Given the description of an element on the screen output the (x, y) to click on. 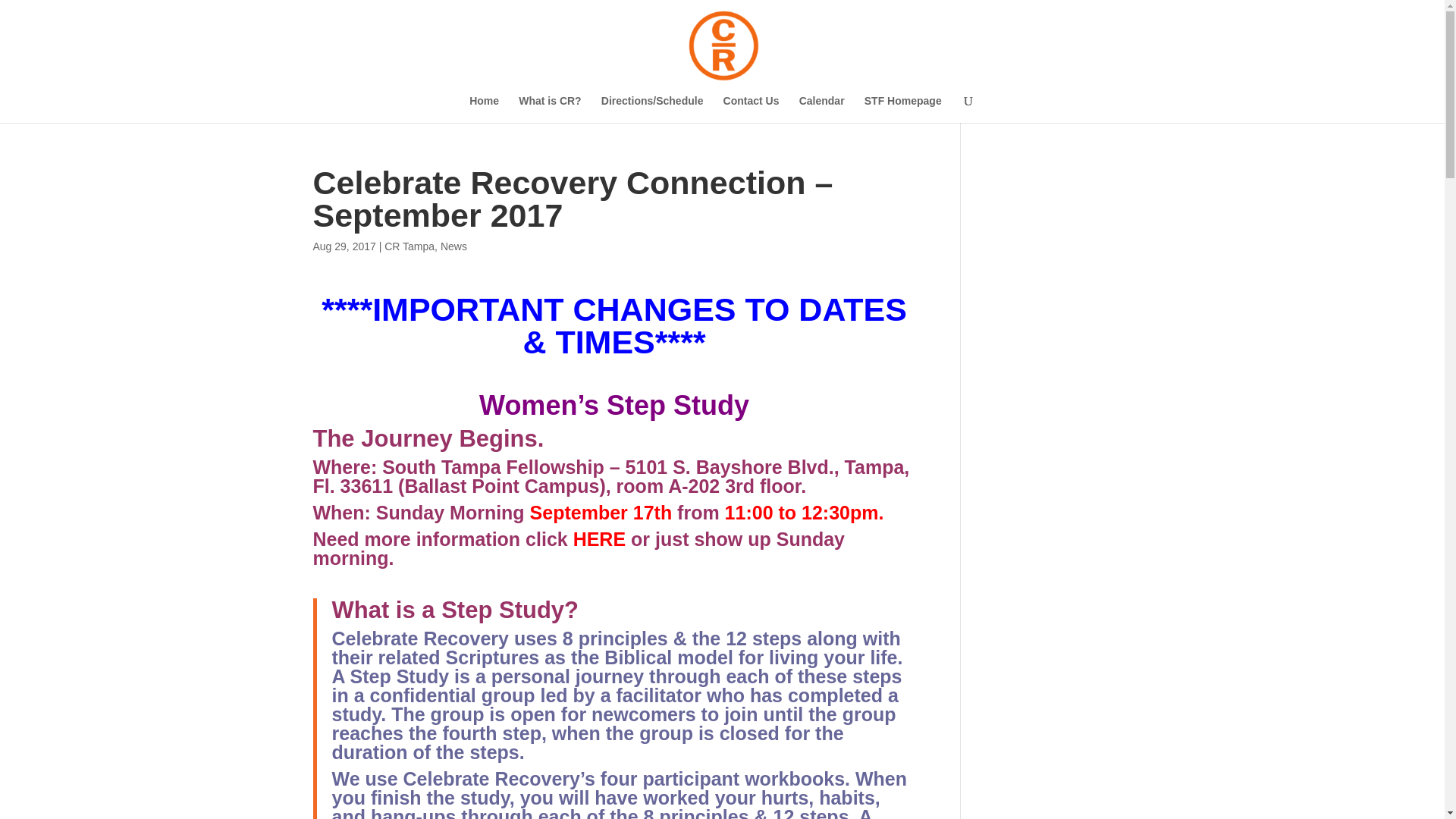
Contact Us (750, 108)
CR Tampa (408, 246)
HERE (601, 538)
What is CR? (549, 108)
Calendar (821, 108)
Home (483, 108)
News (454, 246)
STF Homepage (903, 108)
